Given the description of an element on the screen output the (x, y) to click on. 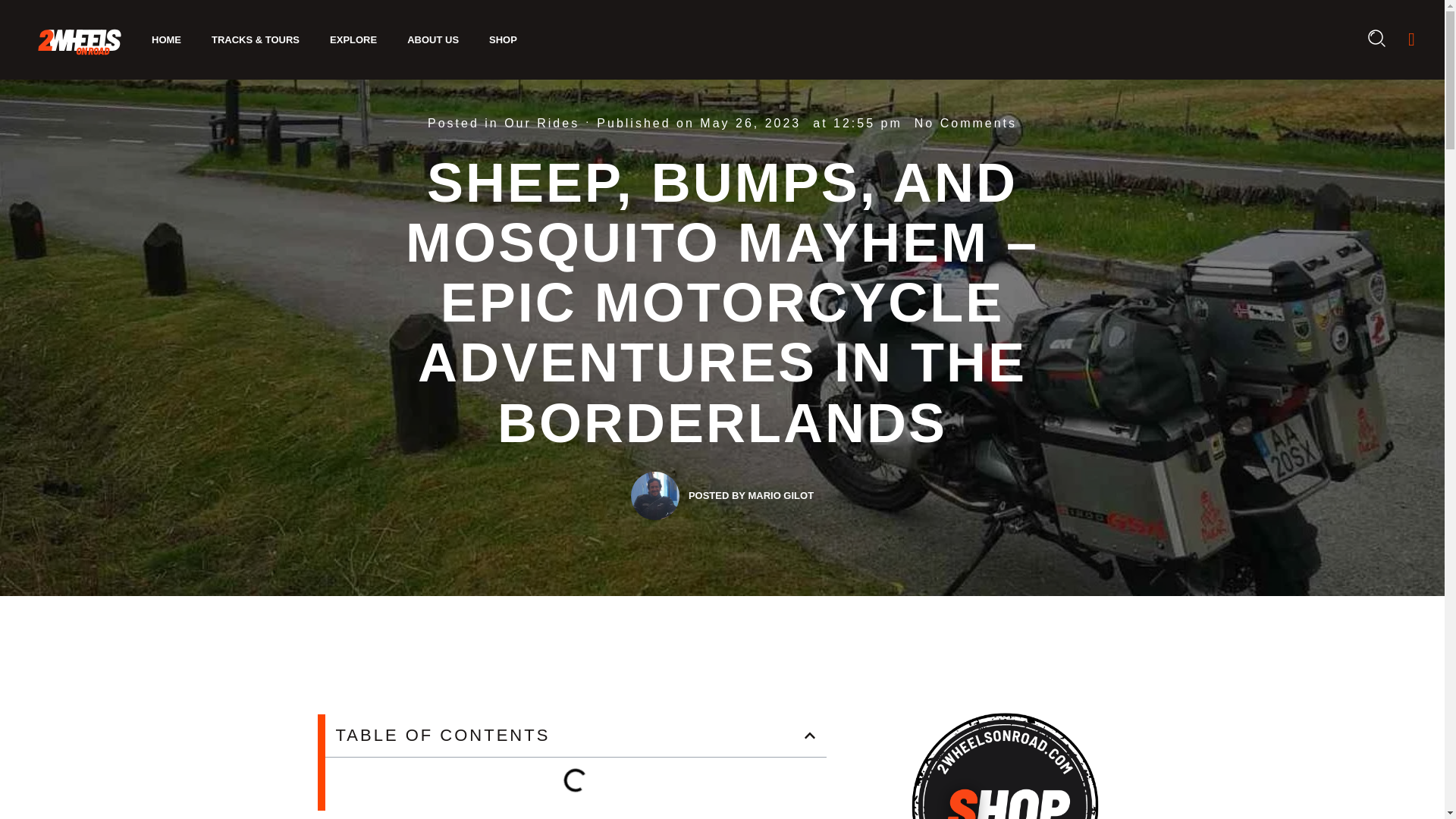
HOME (166, 40)
EXPLORE (352, 40)
ABOUT US (432, 40)
